Given the description of an element on the screen output the (x, y) to click on. 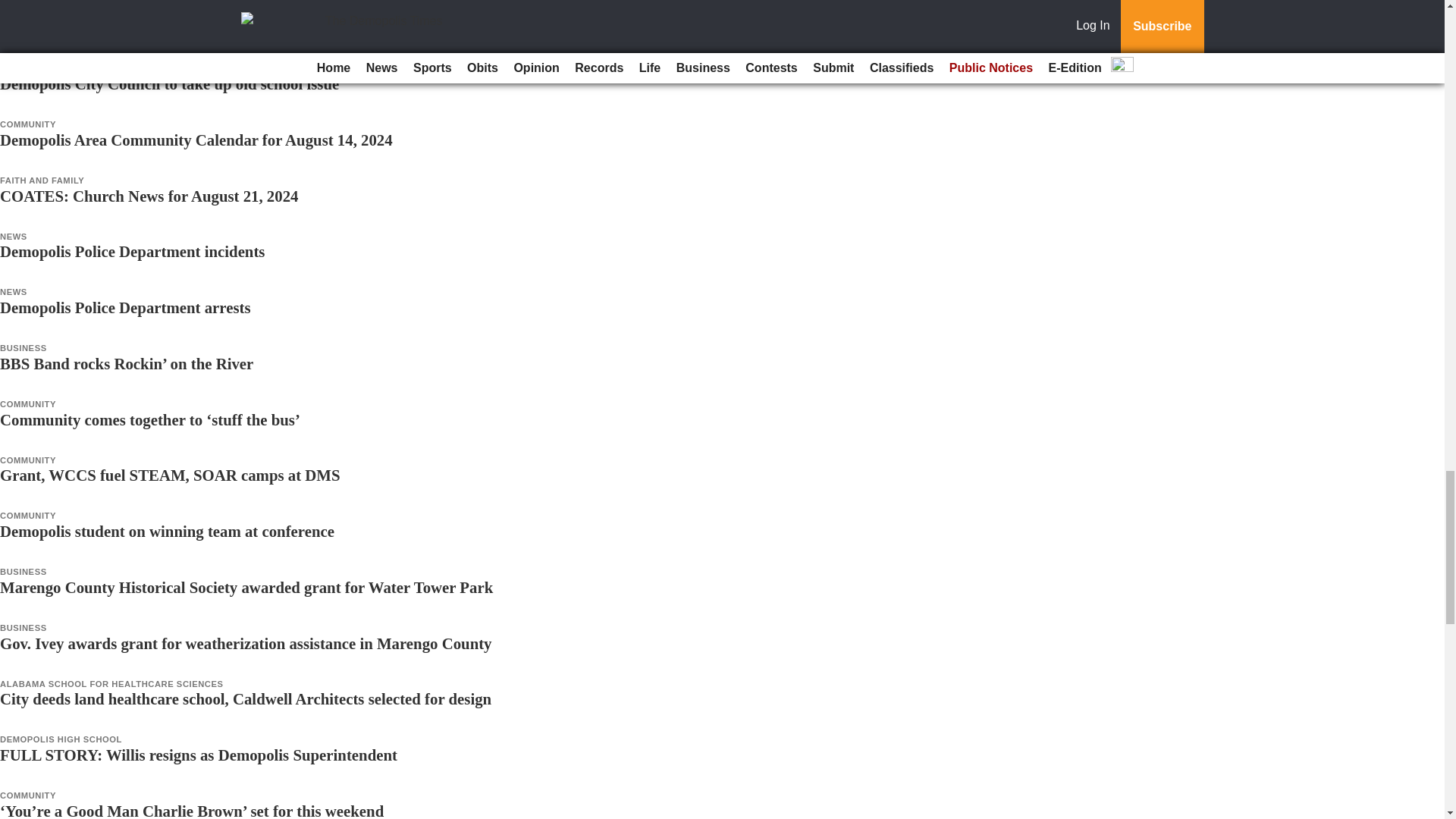
Demopolis student on winning team at conference (167, 530)
Demopolis City Council delays vote on old school (165, 27)
Demopolis City Council to take up old school issue (169, 83)
Demopolis Area Community Calendar for August 14, 2024 (196, 139)
Demopolis City Council delays vote on old school (165, 27)
Demopolis Police Department arrests (125, 307)
Demopolis City Council to take up old school issue (169, 83)
